Given the description of an element on the screen output the (x, y) to click on. 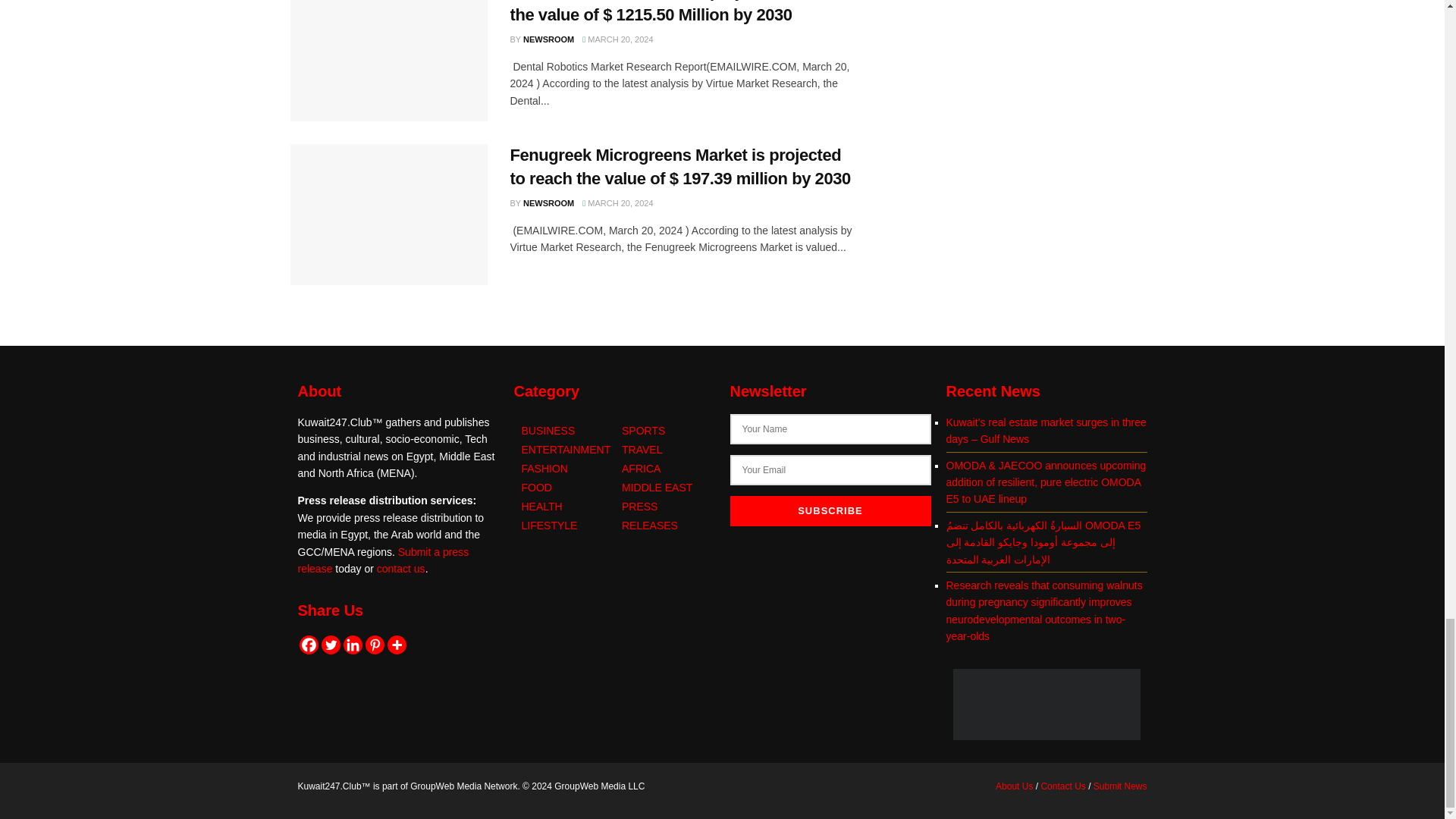
Twitter (330, 644)
Facebook (307, 644)
Pinterest (374, 644)
Linkedin (351, 644)
SUBSCRIBE (829, 511)
More (396, 644)
